Given the description of an element on the screen output the (x, y) to click on. 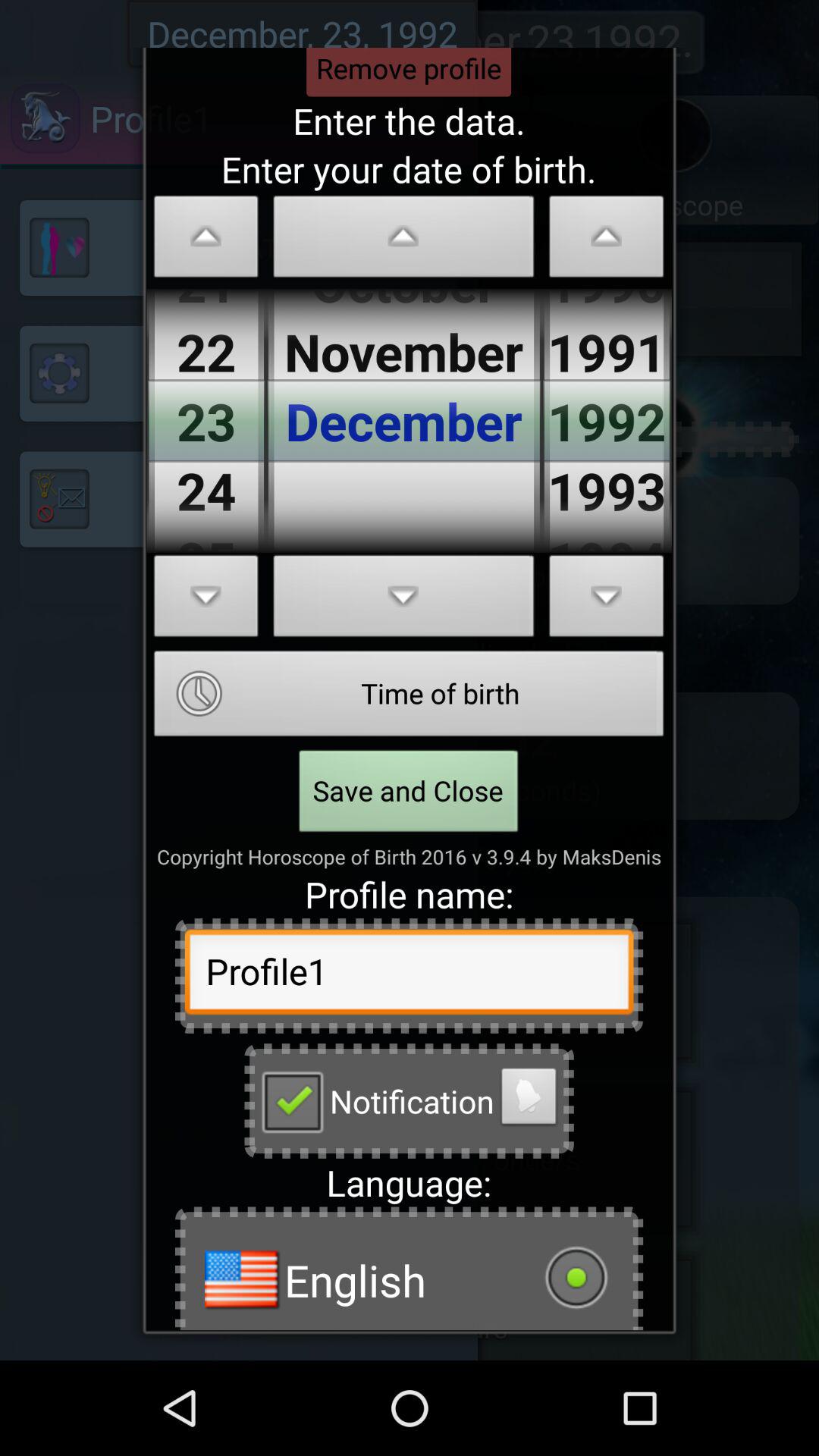
go down (206, 600)
